Given the description of an element on the screen output the (x, y) to click on. 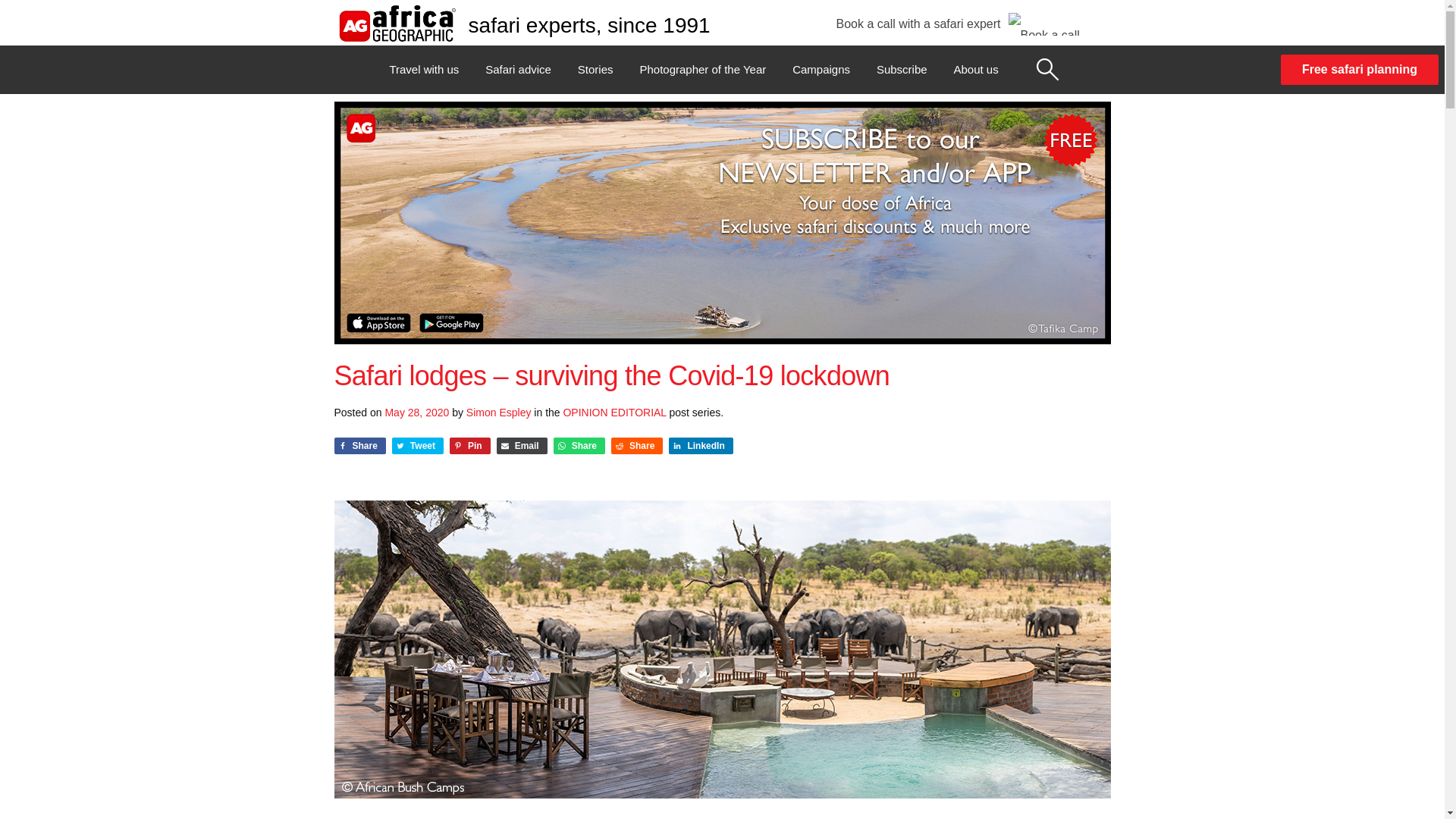
Subscribe (901, 69)
Safari advice (518, 69)
Safari advice (518, 69)
Africa Geographic (396, 22)
Stories (595, 69)
Photographer of the Year (702, 69)
Email (521, 445)
Travel with us (423, 69)
Campaigns (820, 69)
About us (975, 69)
Travel with us (423, 69)
